Given the description of an element on the screen output the (x, y) to click on. 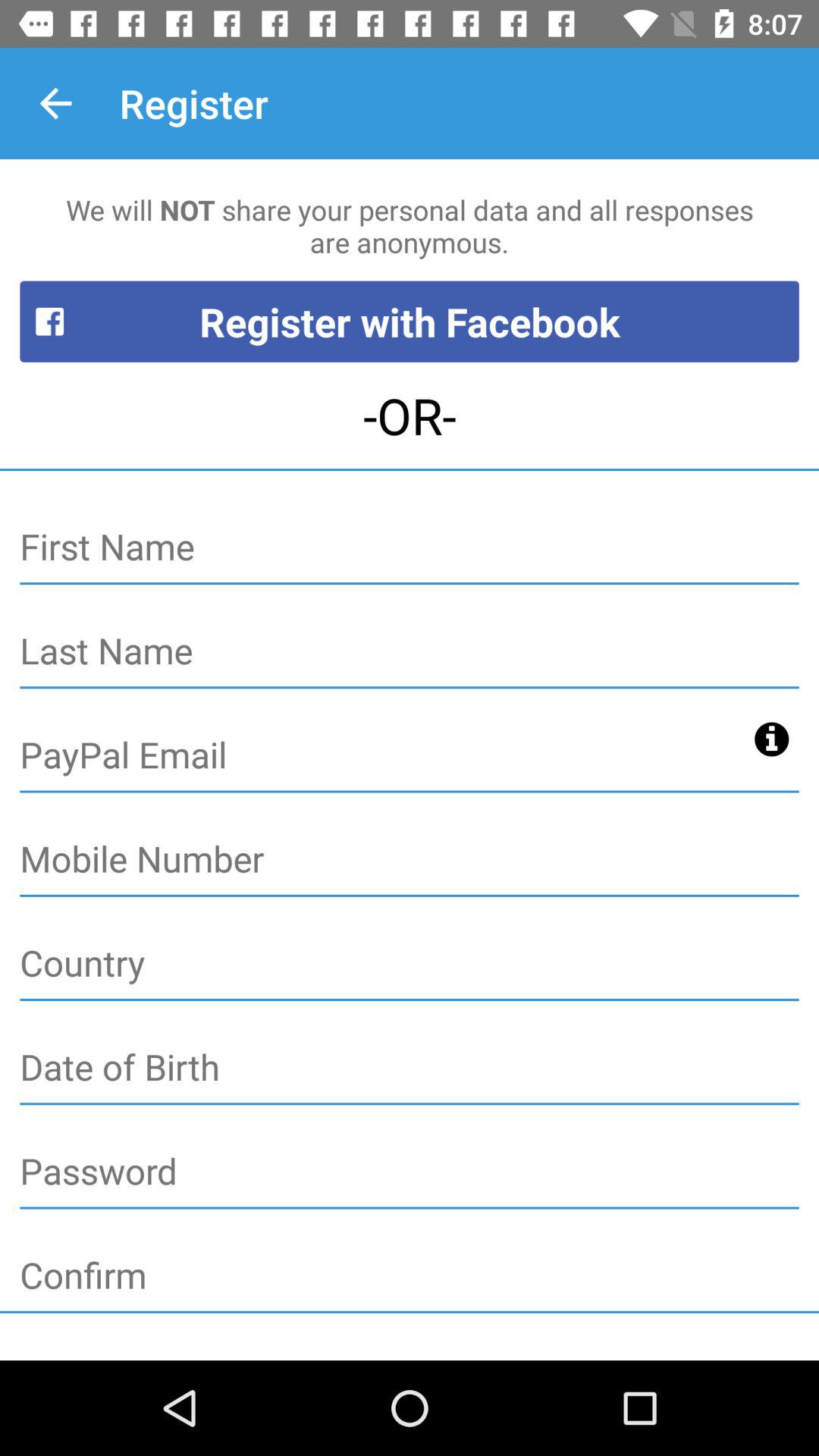
enter password (409, 1172)
